Given the description of an element on the screen output the (x, y) to click on. 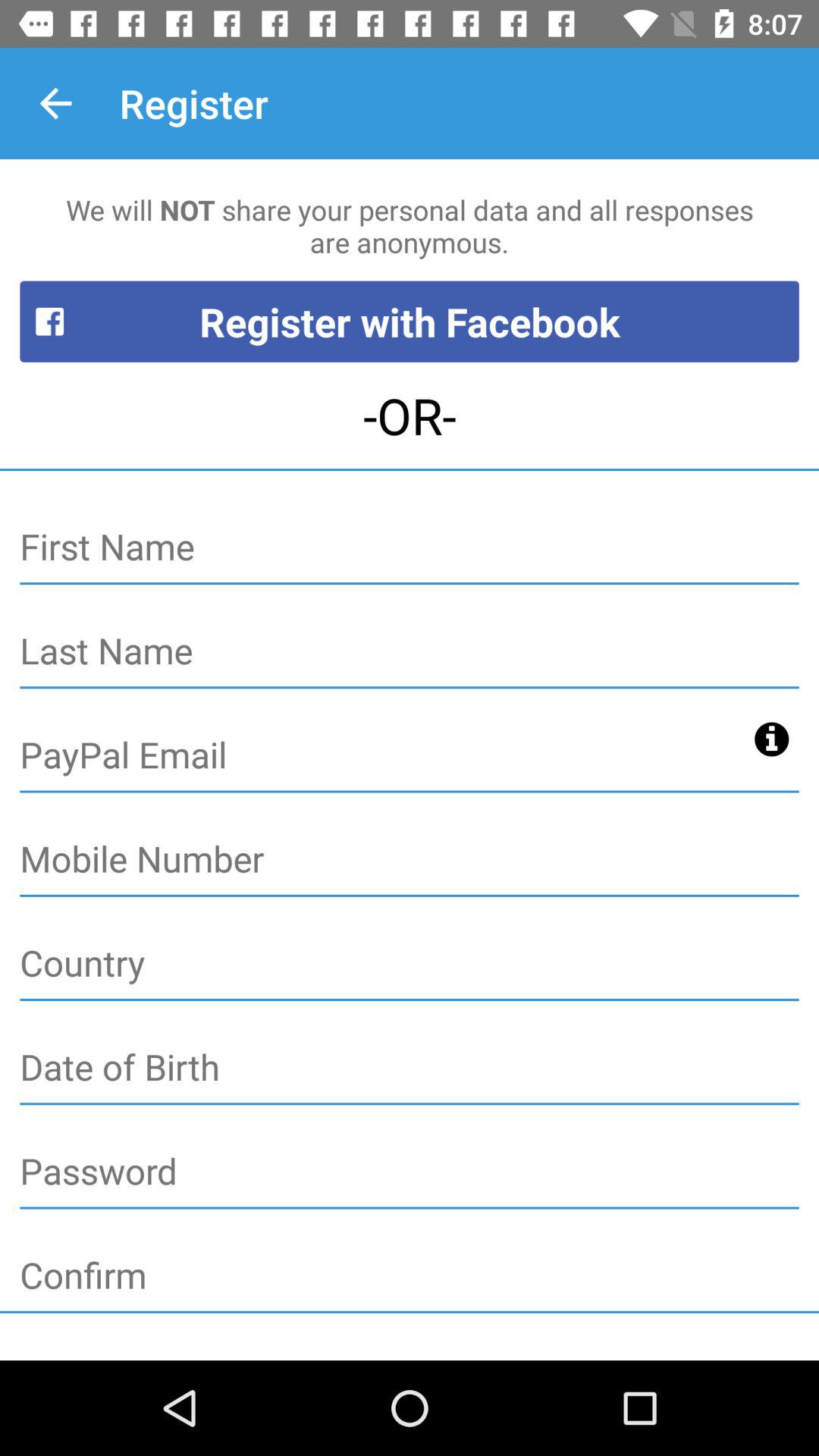
enter password (409, 1172)
